Given the description of an element on the screen output the (x, y) to click on. 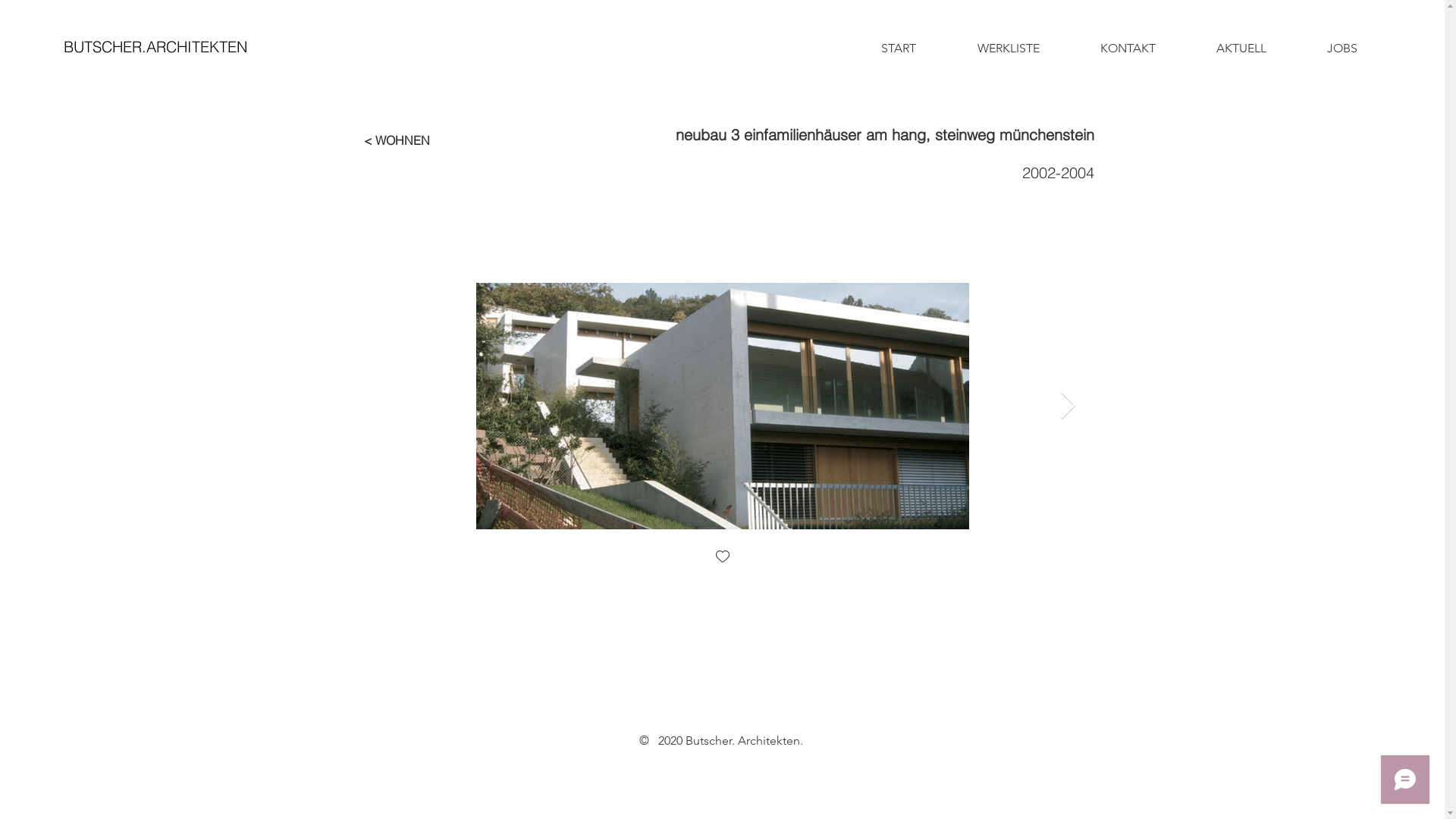
BUTSCHER.ARCHITEKTEN Element type: text (155, 46)
AKTUELL Element type: text (1241, 48)
< WOHNEN Element type: text (396, 140)
START Element type: text (898, 48)
WERKLISTE Element type: text (1007, 48)
JOBS Element type: text (1341, 48)
KONTAKT Element type: text (1127, 48)
